Given the description of an element on the screen output the (x, y) to click on. 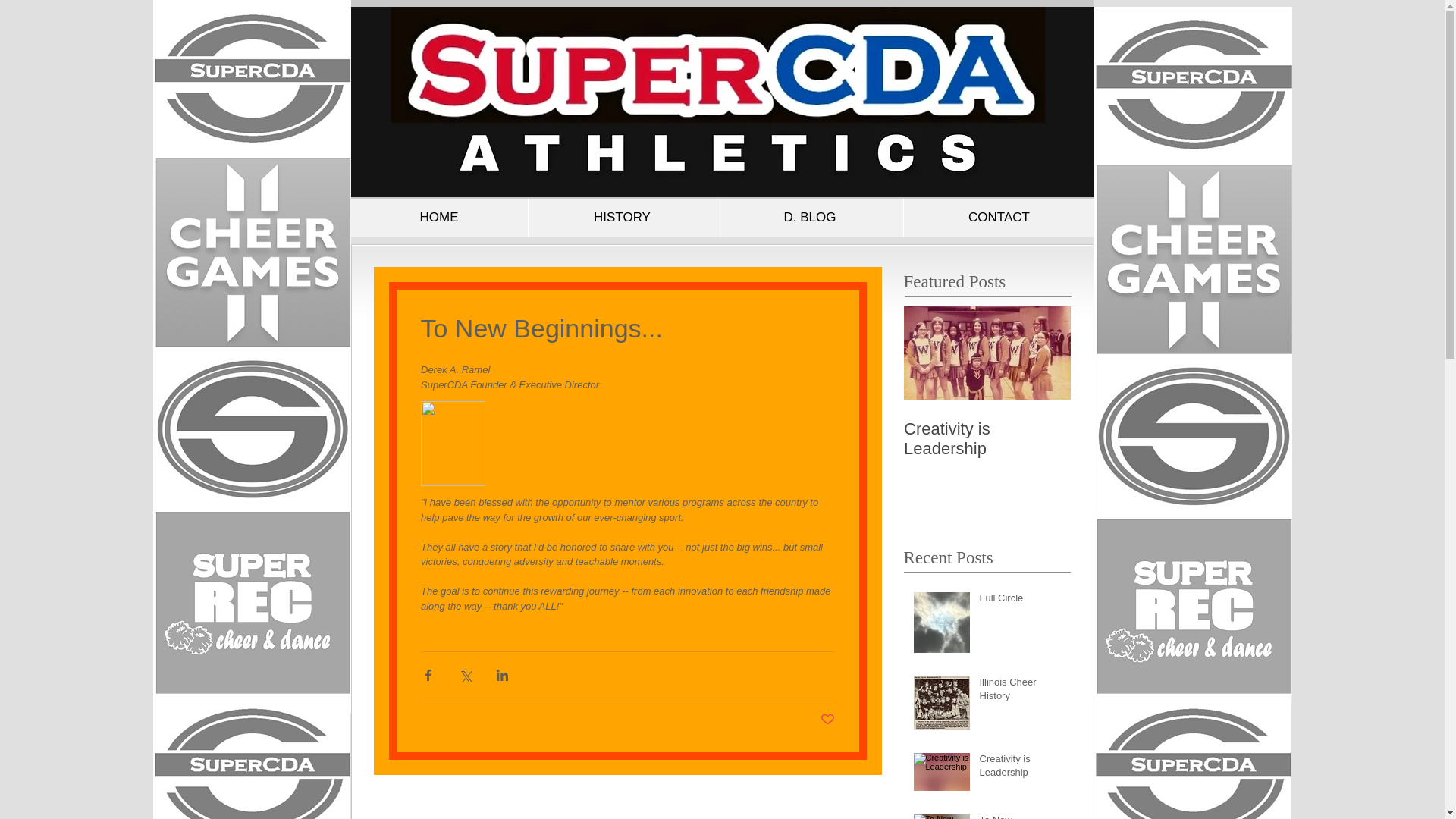
Creativity is Leadership (987, 438)
HISTORY (621, 217)
Post not marked as liked (827, 719)
Illinois Cheer History (1020, 692)
To New Beginnings... (1020, 816)
D. BLOG (809, 217)
HOME (438, 217)
Creativity is Leadership (1020, 768)
Full Circle (1020, 600)
CONTACT (998, 217)
